Given the description of an element on the screen output the (x, y) to click on. 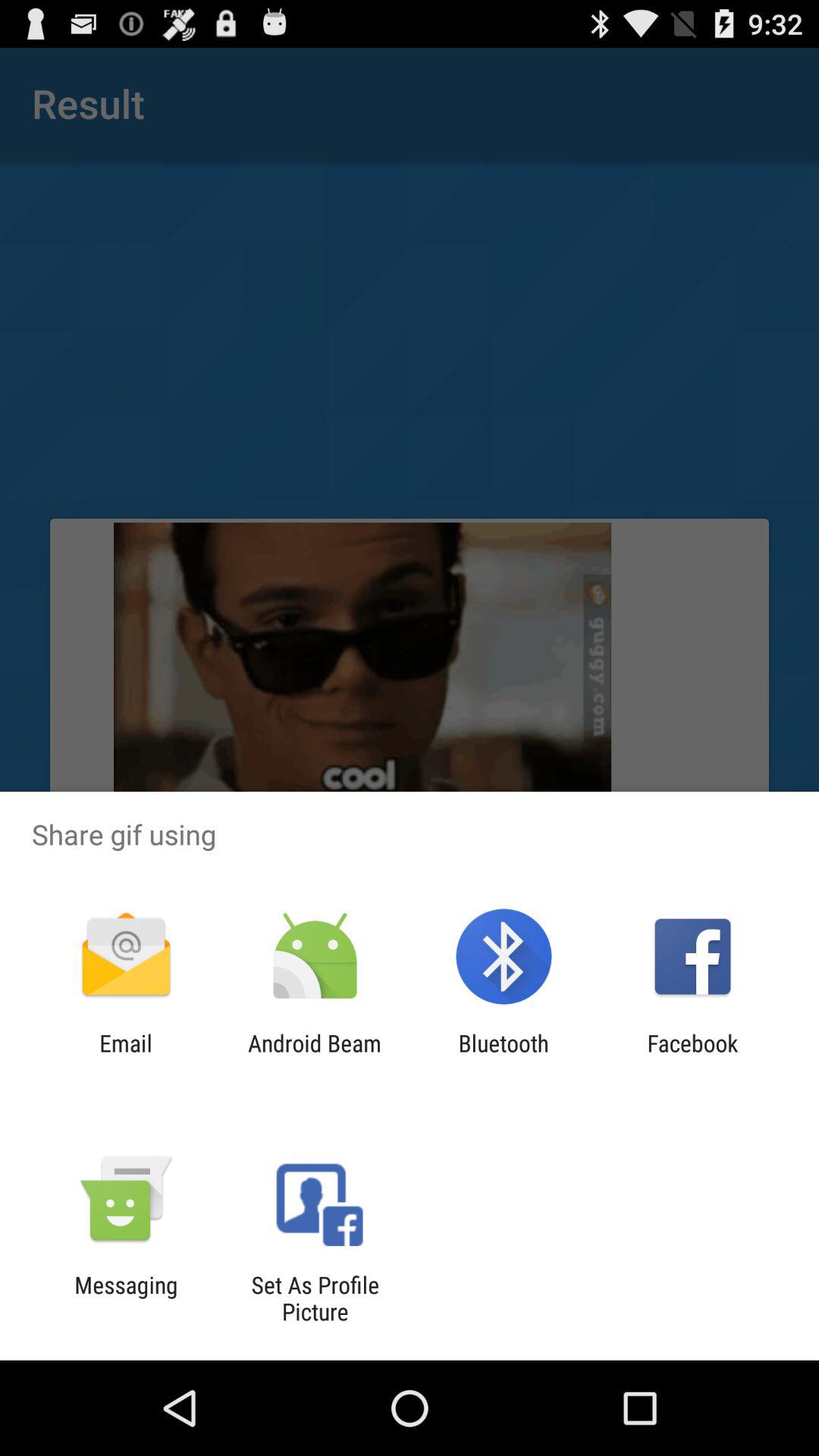
open icon to the left of the set as profile (126, 1298)
